Given the description of an element on the screen output the (x, y) to click on. 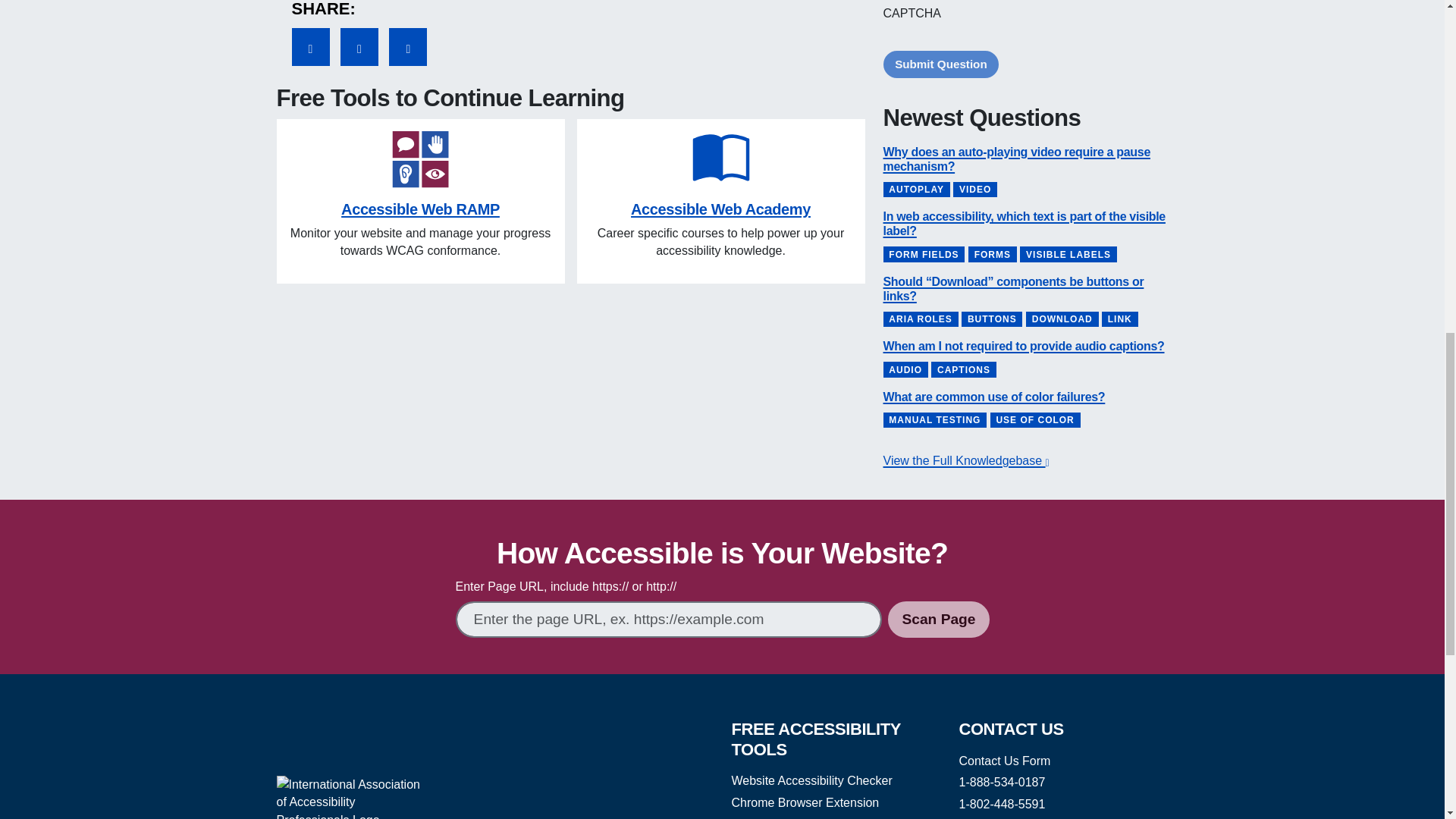
Share on Facebook (310, 46)
E-Mail this page (359, 46)
Why does an auto-playing video require a pause mechanism? (1016, 158)
Accessible Web RAMP (419, 208)
Share on LinkedIn (407, 46)
Submit Question (940, 64)
Accessible Web Academy (720, 208)
